Given the description of an element on the screen output the (x, y) to click on. 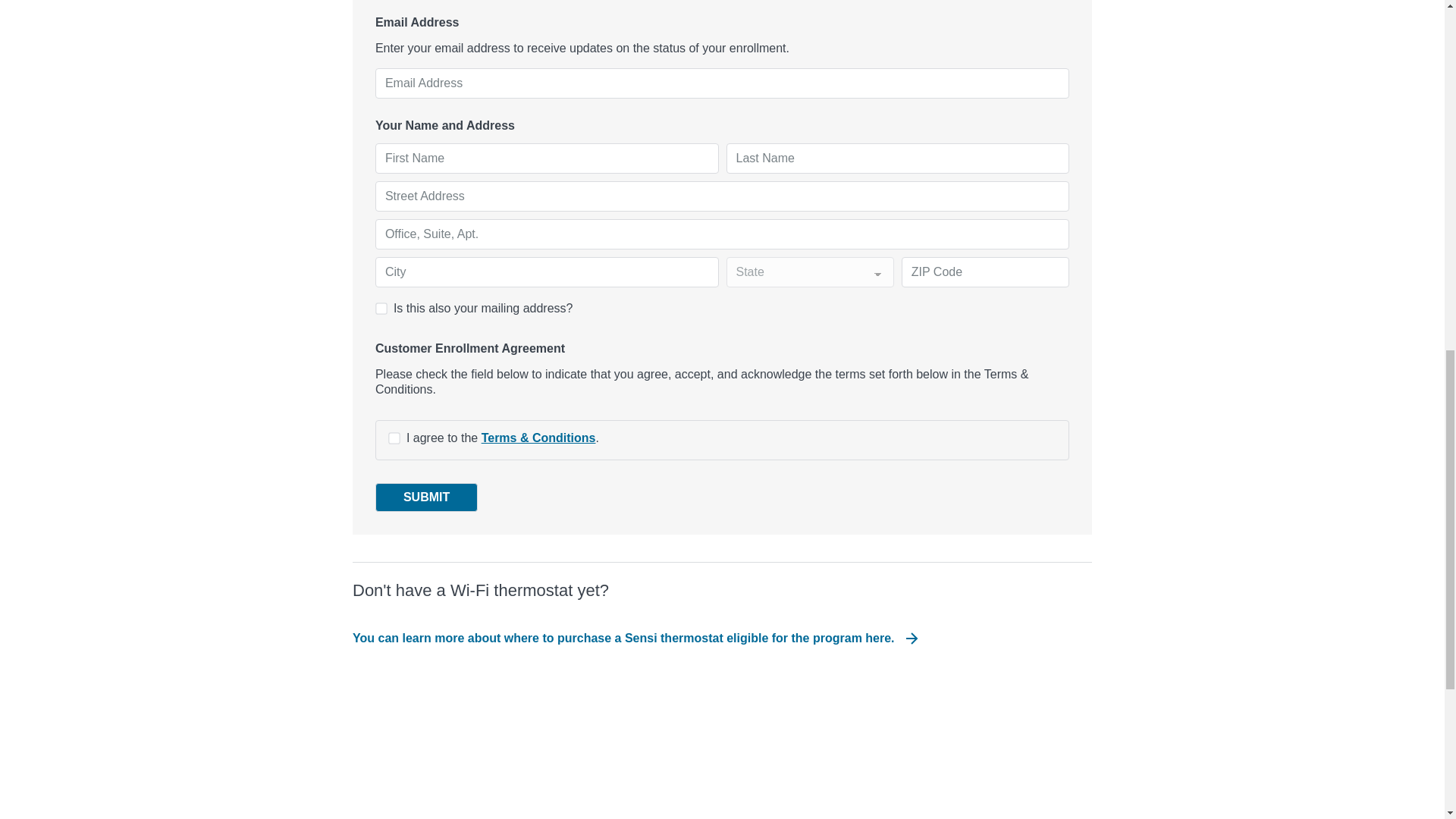
SUBMIT (426, 497)
SUBMIT (426, 497)
